Given the description of an element on the screen output the (x, y) to click on. 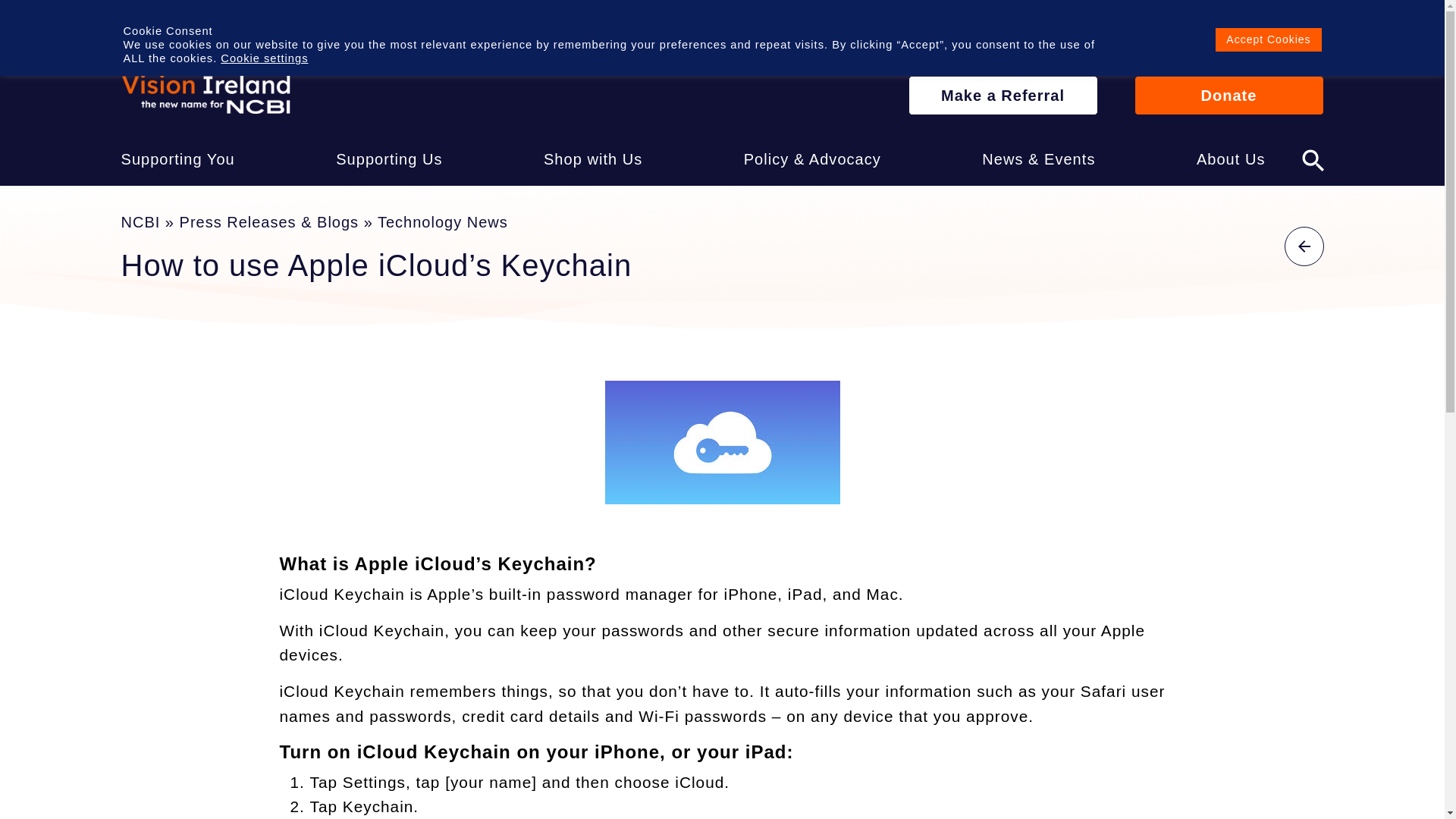
Go to the Technology News category archives. (442, 221)
Vision Ireland InfoLine 1800 911 250 (1010, 29)
NCBI (206, 94)
Go to NCBI. (140, 221)
Accept Cookies (1267, 39)
Supporting You (177, 159)
Cookie settings (264, 58)
myVI (1291, 27)
Your shopping cart is empty (1230, 28)
Contrast (175, 29)
A (273, 28)
Donate (1228, 95)
A (302, 28)
Make a Referral (1002, 95)
Search (1311, 157)
